Given the description of an element on the screen output the (x, y) to click on. 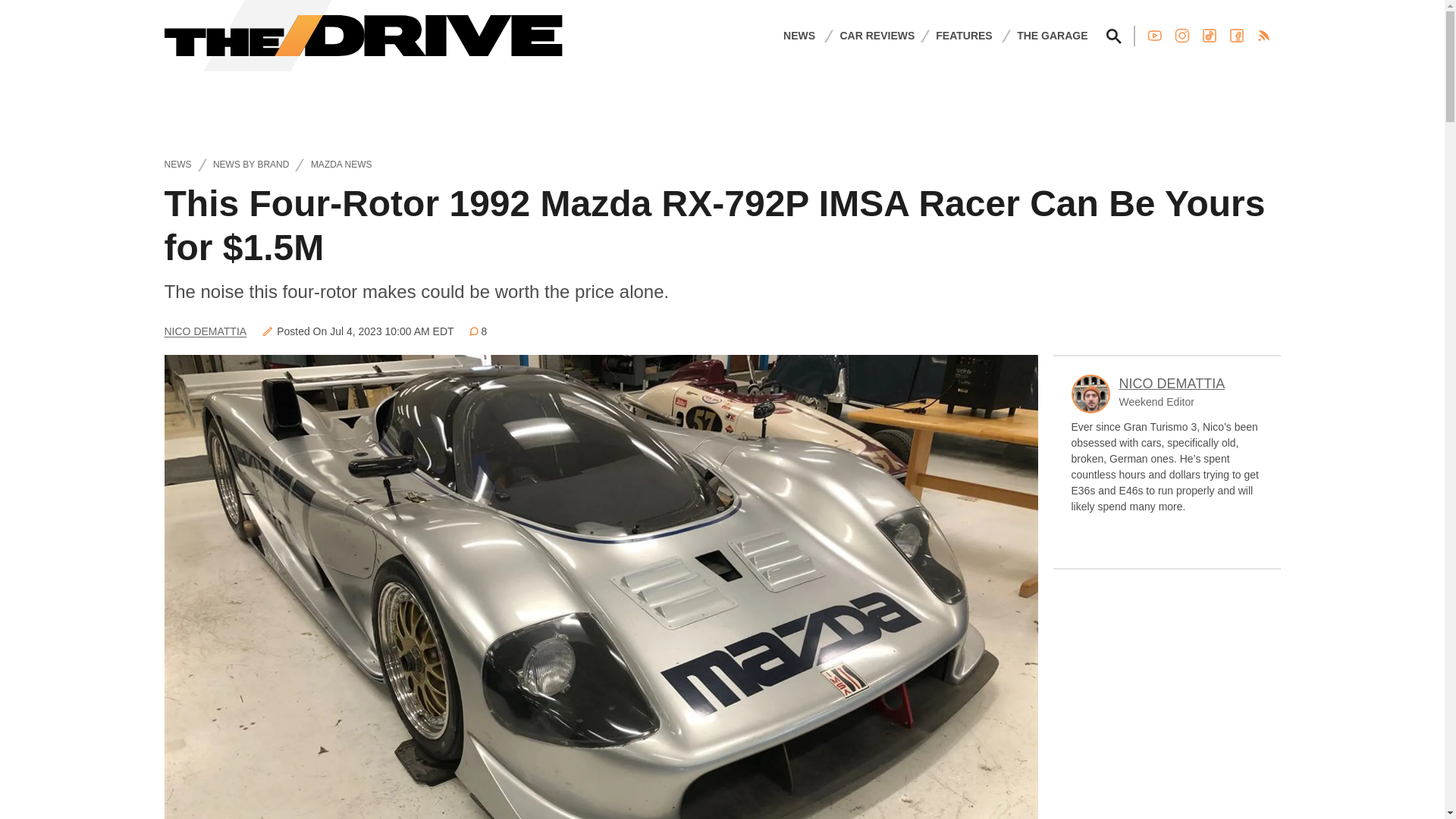
NEWS (799, 34)
